Given the description of an element on the screen output the (x, y) to click on. 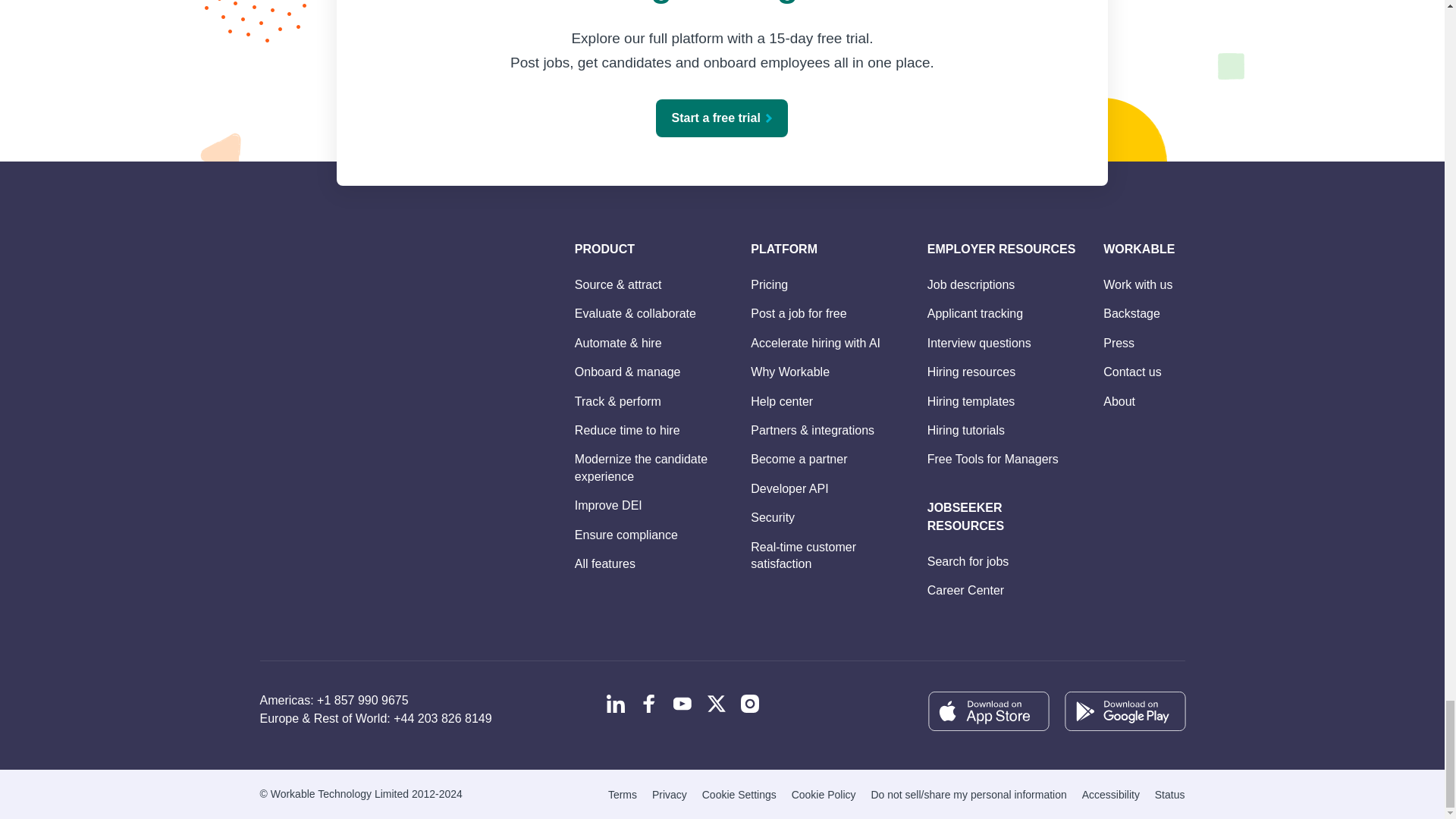
Download Workable on App Store (987, 711)
Workable on Linkedin (615, 703)
Download Workable on Google Play (1123, 711)
Workable on Youtube (681, 703)
Workable on X (716, 703)
Workable on Instagram (749, 703)
Workable on Facebook (649, 703)
